Given the description of an element on the screen output the (x, y) to click on. 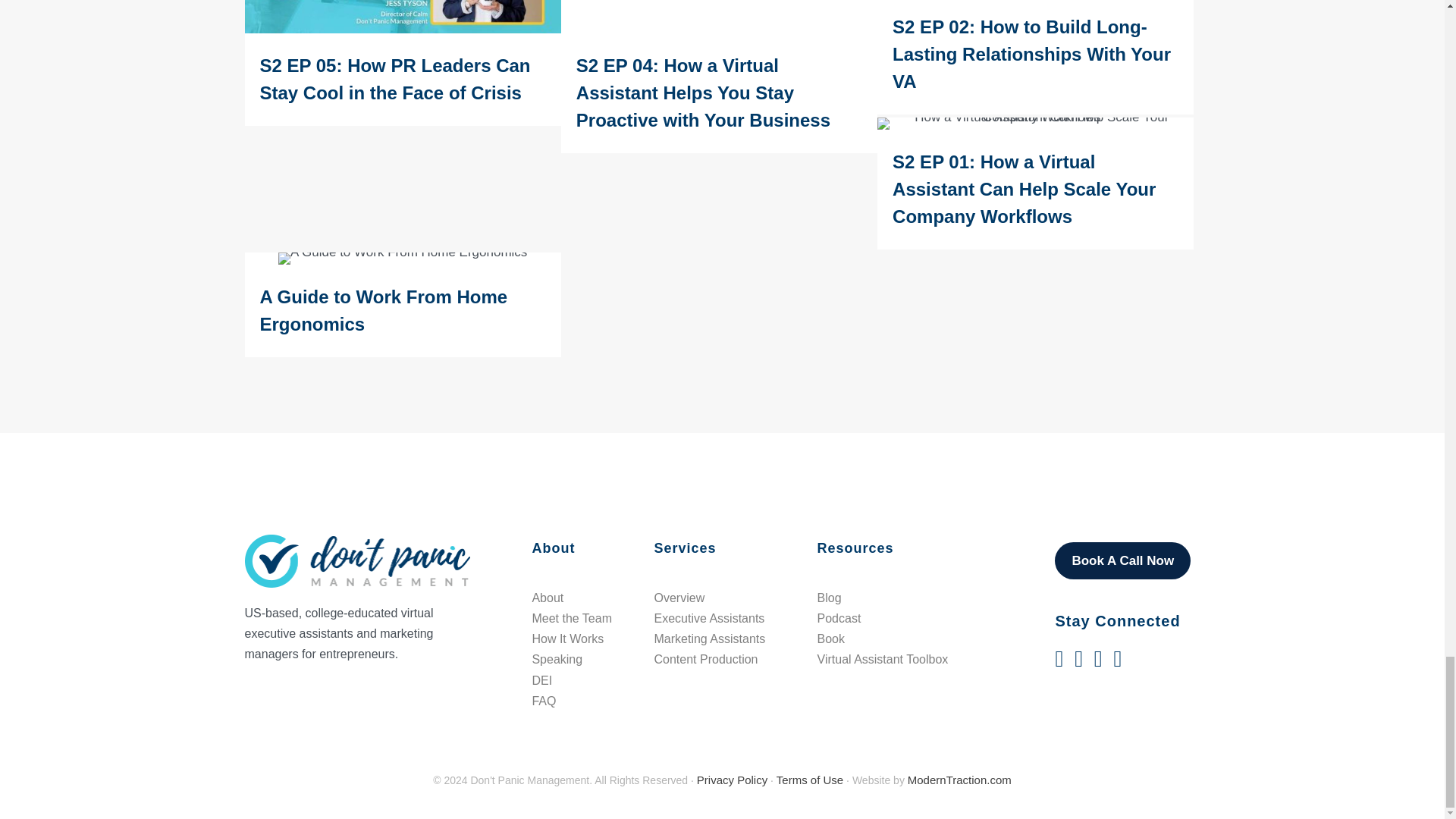
Nick Puleo (718, 16)
S2 EP 05: How PR Leaders Can Stay Cool in the Face of Crisis (402, 63)
A Guide to Work From Home Ergonomics (402, 304)
Gini Dietrich Rectangle (402, 16)
A Guide to Work From Home Ergonomics (402, 258)
